Given the description of an element on the screen output the (x, y) to click on. 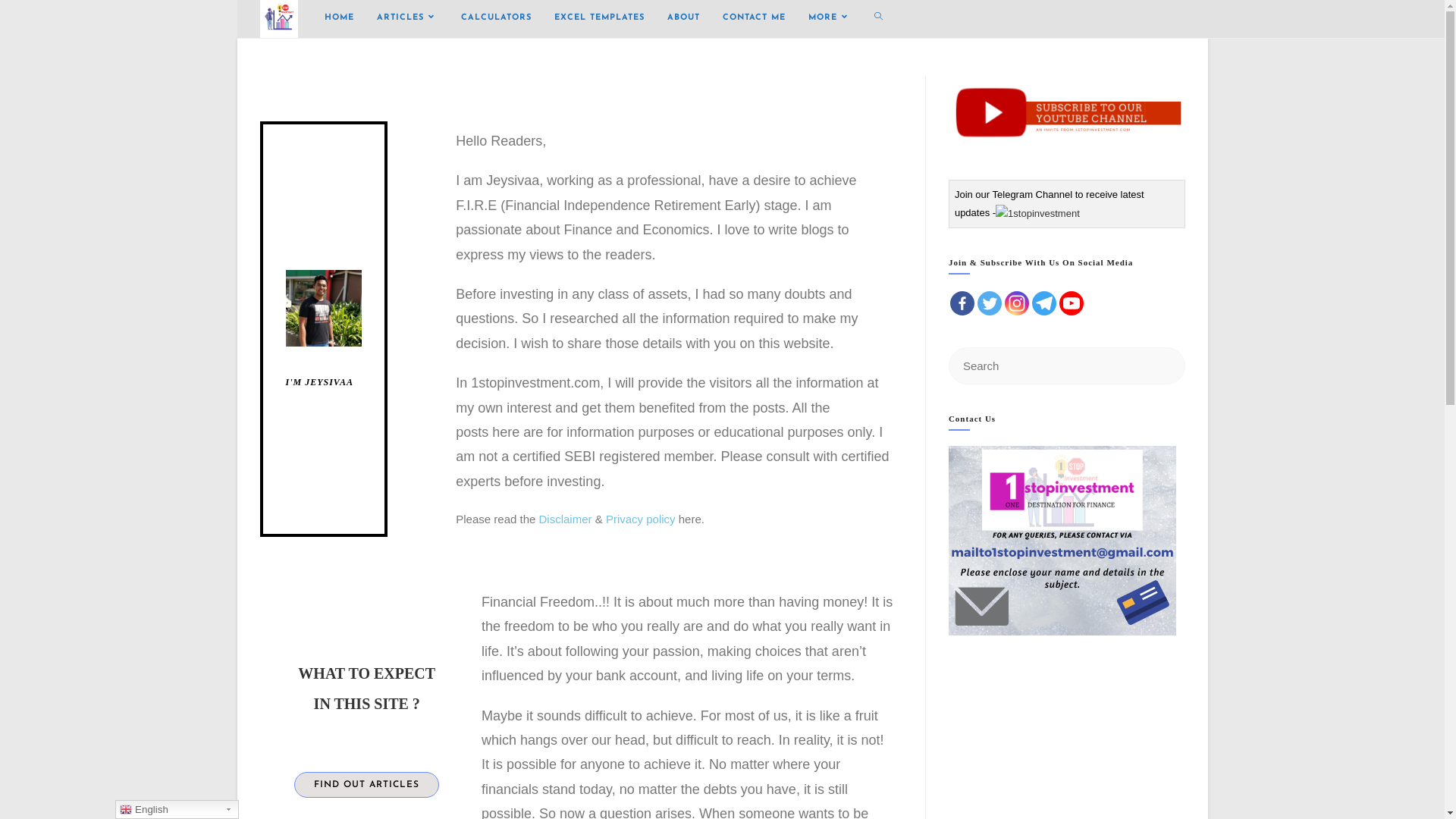
Privacy policy Element type: text (640, 518)
Disclaimer Element type: text (565, 518)
Instagram Element type: hover (1016, 303)
Twitter Element type: hover (989, 303)
Telegram Element type: hover (1044, 303)
Youtubechannel Element type: hover (1071, 303)
FIND OUT ARTICLES Element type: text (366, 784)
Join our Telegram Channel to receive latest updates - Element type: text (1049, 202)
HOME Element type: text (338, 18)
EXCEL TEMPLATES Element type: text (598, 18)
CALCULATORS Element type: text (495, 18)
MORE Element type: text (829, 18)
ARTICLES Element type: text (407, 18)
Facebook Element type: hover (962, 303)
Telegram Element type: hover (1037, 213)
ABOUT Element type: text (682, 18)
CONTACT ME Element type: text (754, 18)
